Given the description of an element on the screen output the (x, y) to click on. 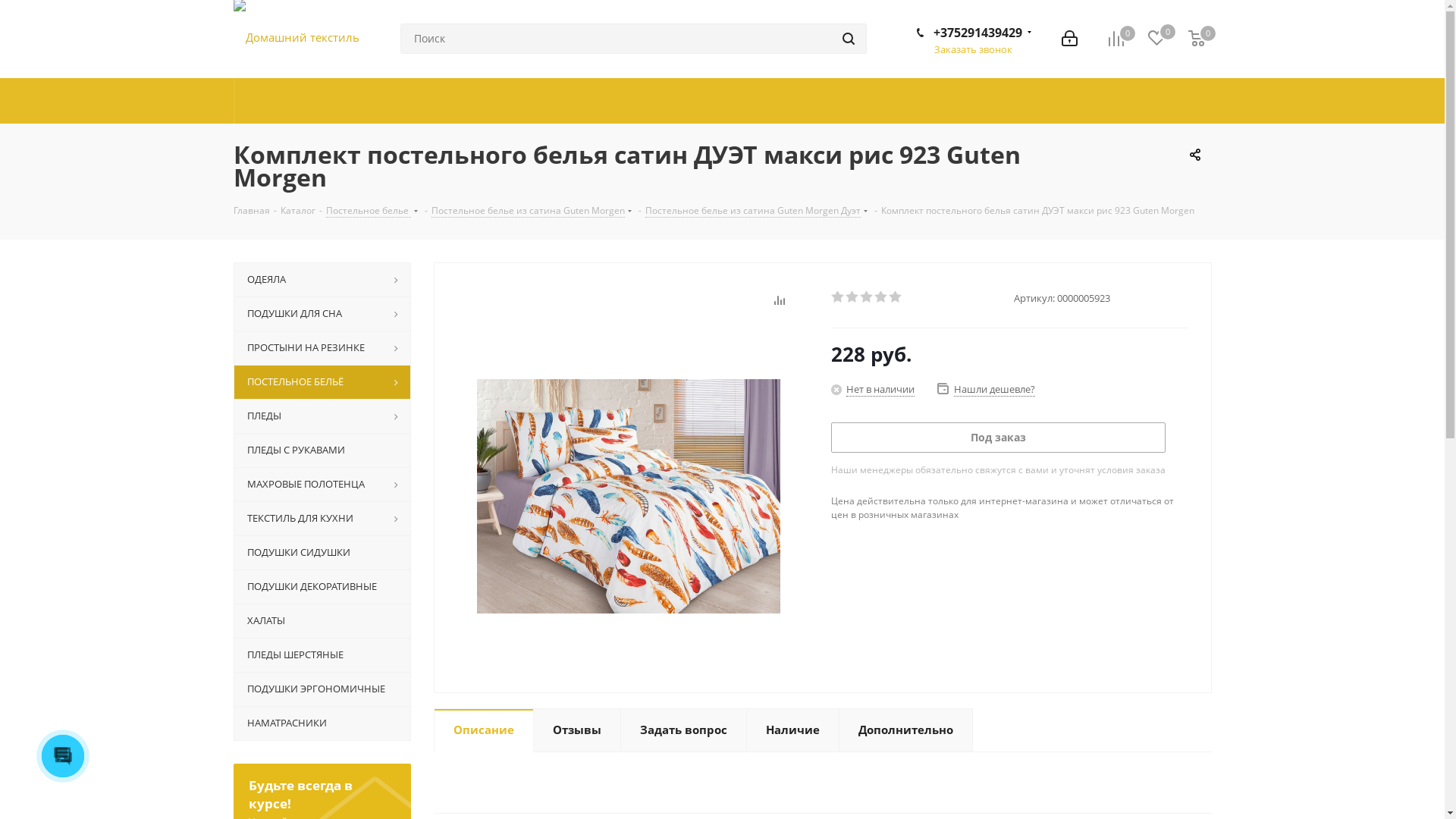
3 Element type: hover (866, 297)
+375291439429 Element type: text (976, 32)
2 Element type: hover (851, 297)
1 Element type: hover (838, 297)
5 Element type: hover (895, 297)
4 Element type: hover (880, 297)
